Given the description of an element on the screen output the (x, y) to click on. 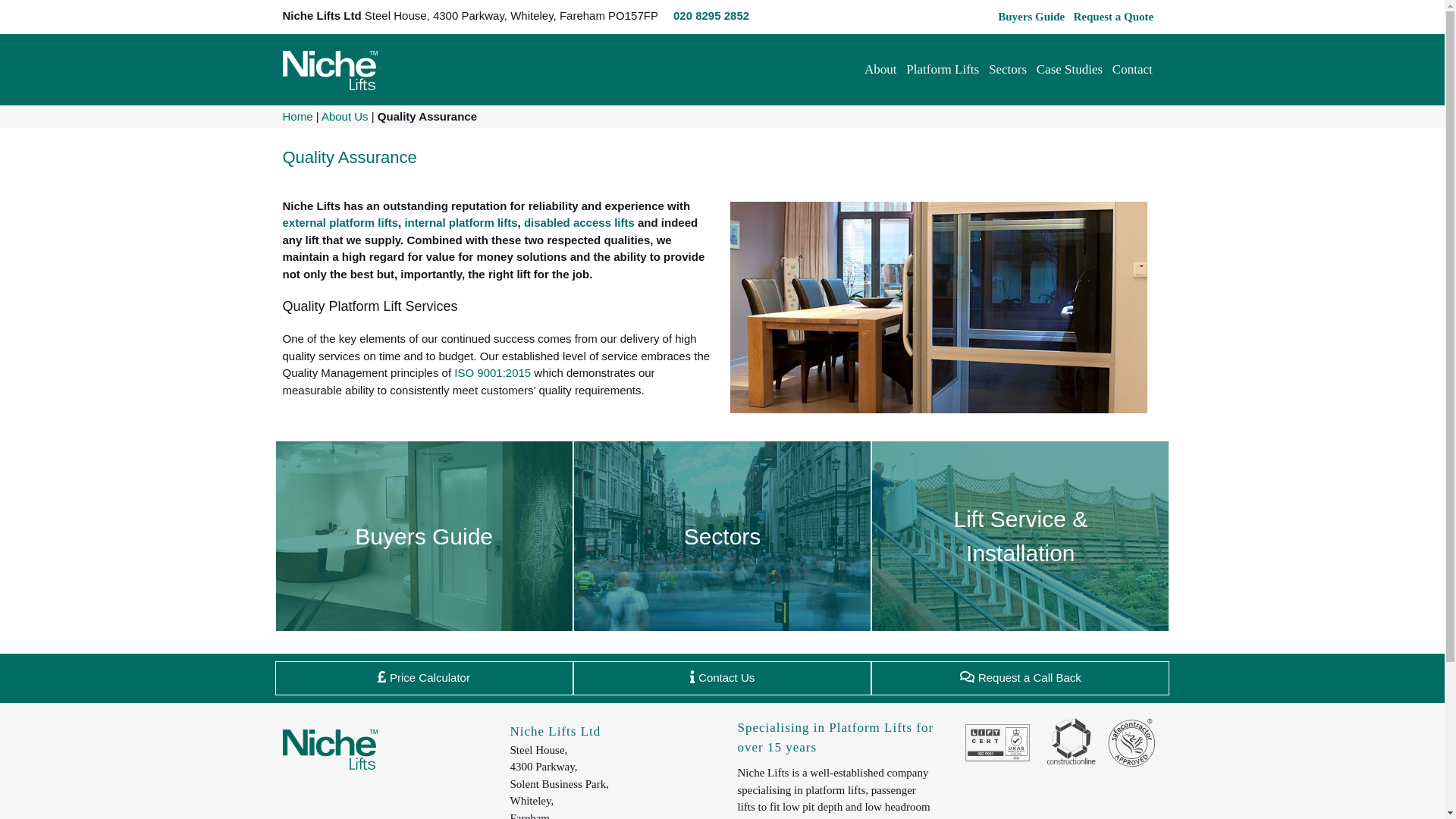
Platform Lifts (946, 69)
About (884, 69)
Request a Quote (1117, 17)
Sectors (1012, 69)
020 8295 2852 (710, 15)
Buyers Guide (1035, 17)
